Given the description of an element on the screen output the (x, y) to click on. 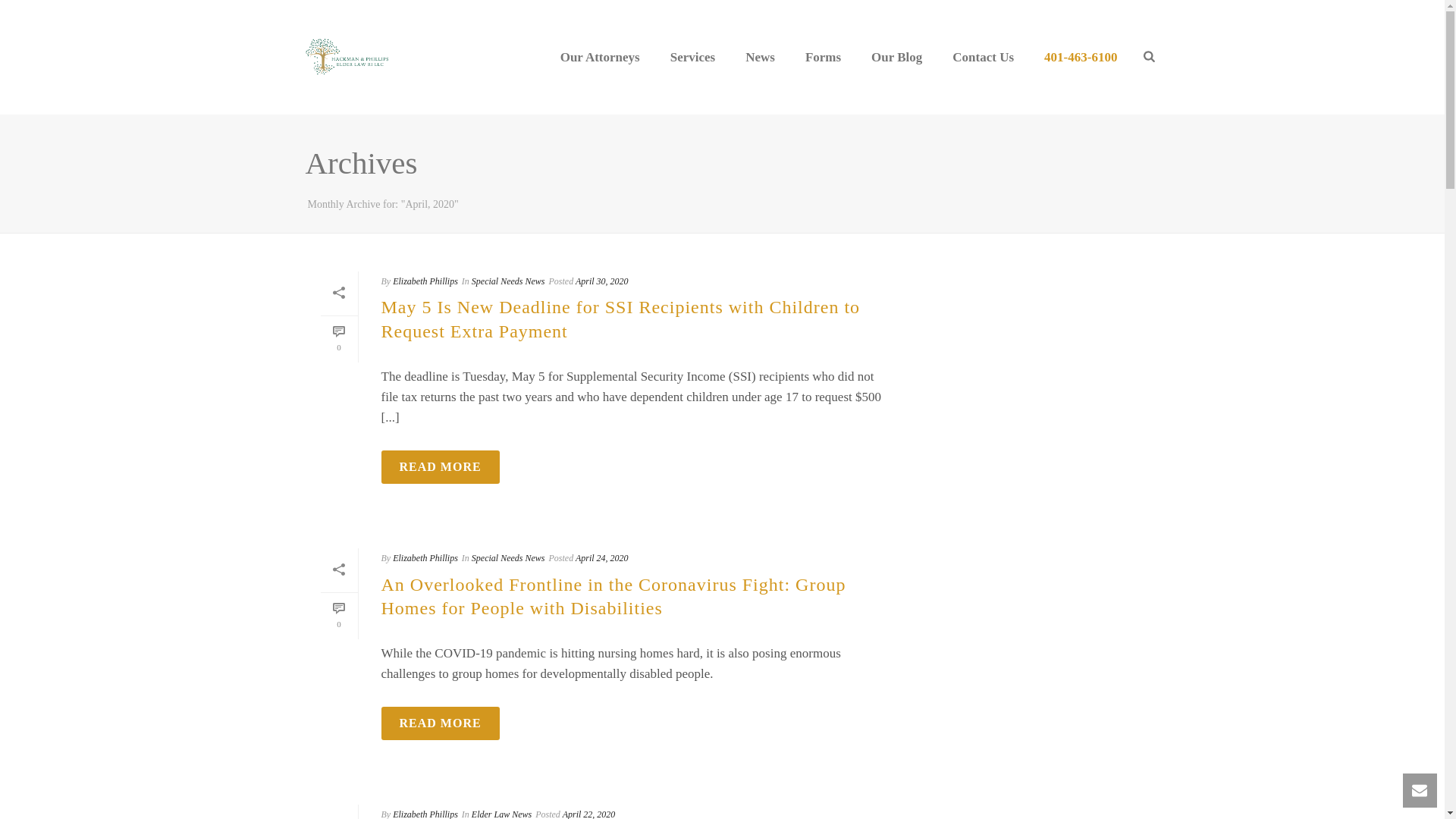
Our Blog (896, 57)
Posts by Elizabeth Phillips (425, 281)
News (760, 57)
Elizabeth Phillips (425, 557)
401-463-6100 (1080, 57)
READ MORE (439, 467)
READ MORE (439, 467)
Our Attorneys (599, 57)
Special Needs News (507, 281)
Elizabeth Phillips (425, 281)
Our Blog (896, 57)
Forms (823, 57)
News (760, 57)
Our Attorneys (599, 57)
Contact Us (983, 57)
